Given the description of an element on the screen output the (x, y) to click on. 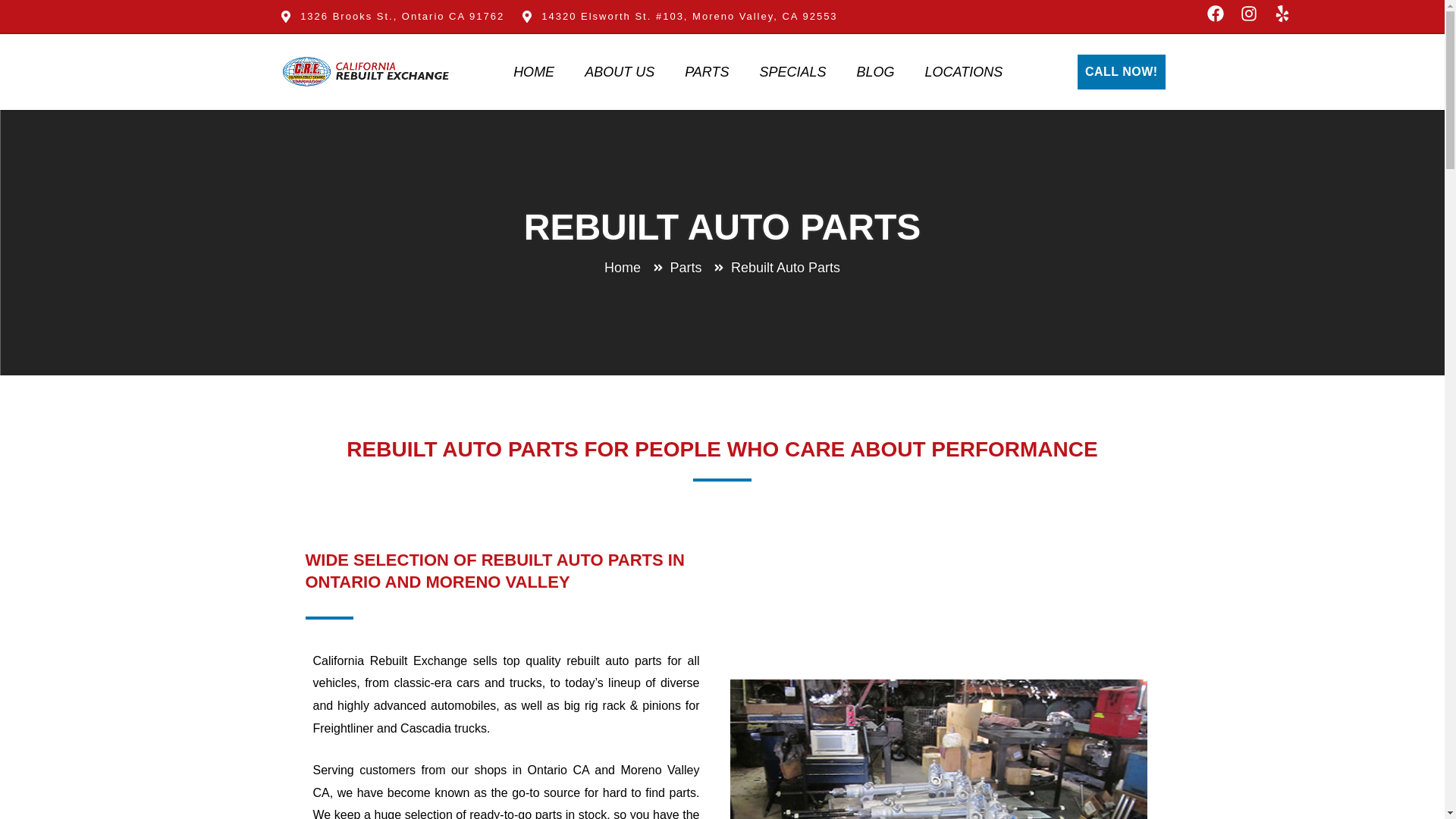
Yelp (1286, 16)
1326 Brooks St., Ontario CA 91762 (391, 16)
HOME (533, 71)
LOCATIONS (963, 71)
Parts (676, 267)
Home (622, 267)
SPECIALS (792, 71)
Facebook (1219, 16)
PARTS (706, 71)
CALL NOW! (1121, 71)
